Given the description of an element on the screen output the (x, y) to click on. 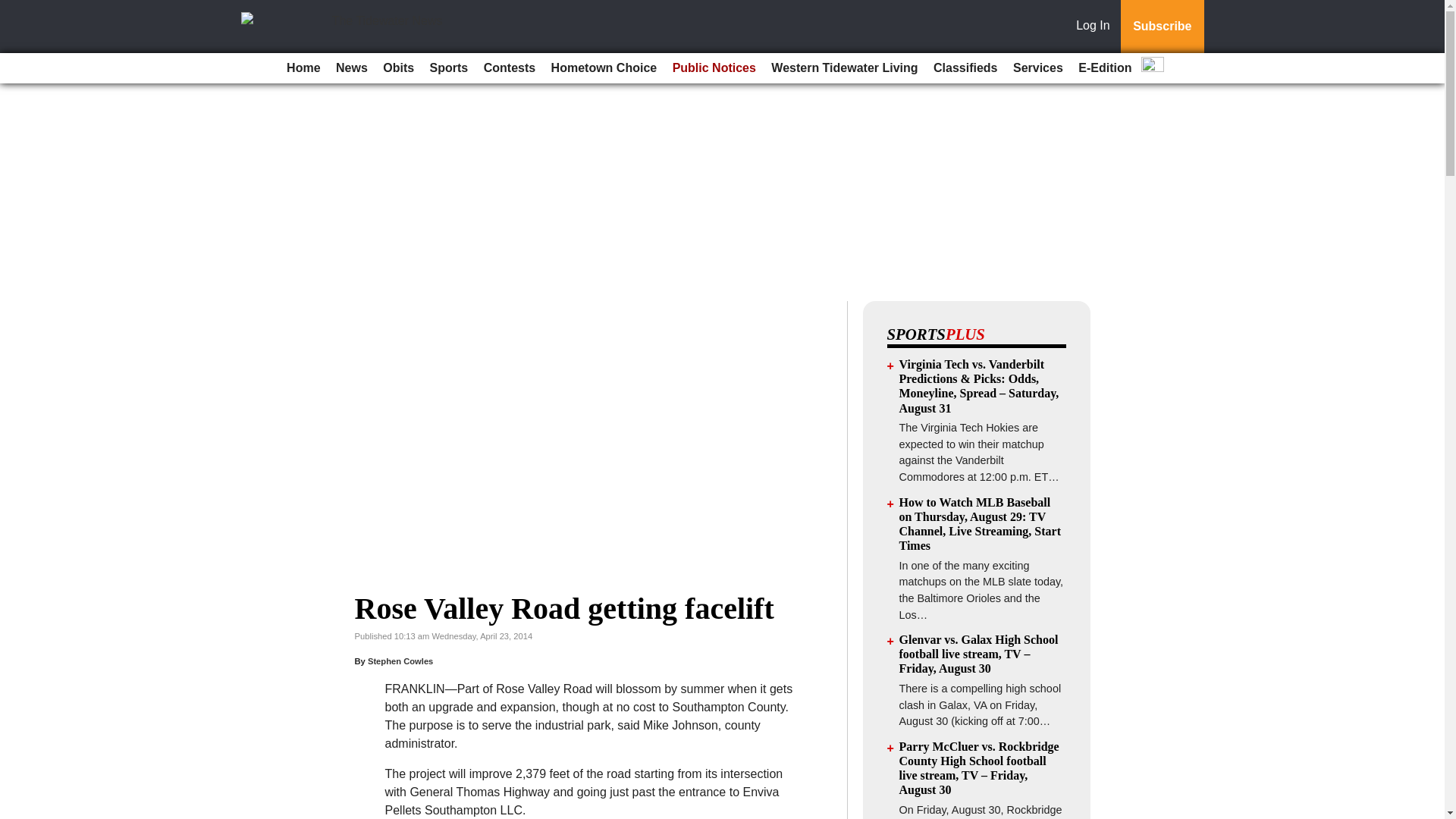
Home (303, 68)
Subscribe (1162, 26)
Public Notices (713, 68)
E-Edition (1104, 68)
Log In (1095, 26)
Western Tidewater Living (844, 68)
Go (13, 9)
Stephen Cowles (400, 660)
Obits (398, 68)
Hometown Choice (603, 68)
